Given the description of an element on the screen output the (x, y) to click on. 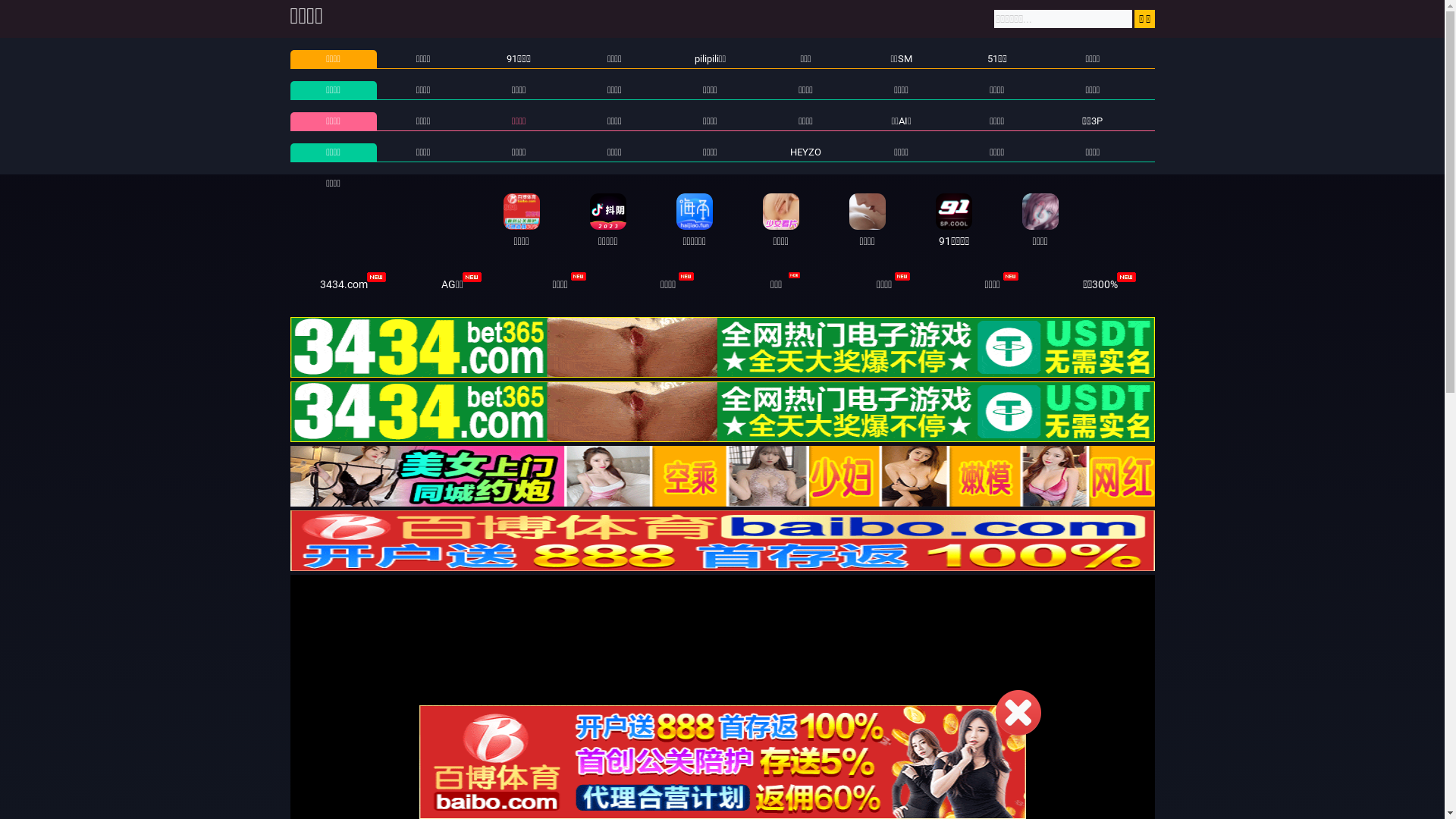
3434.com Element type: text (343, 284)
HEYZO Element type: text (805, 151)
